Given the description of an element on the screen output the (x, y) to click on. 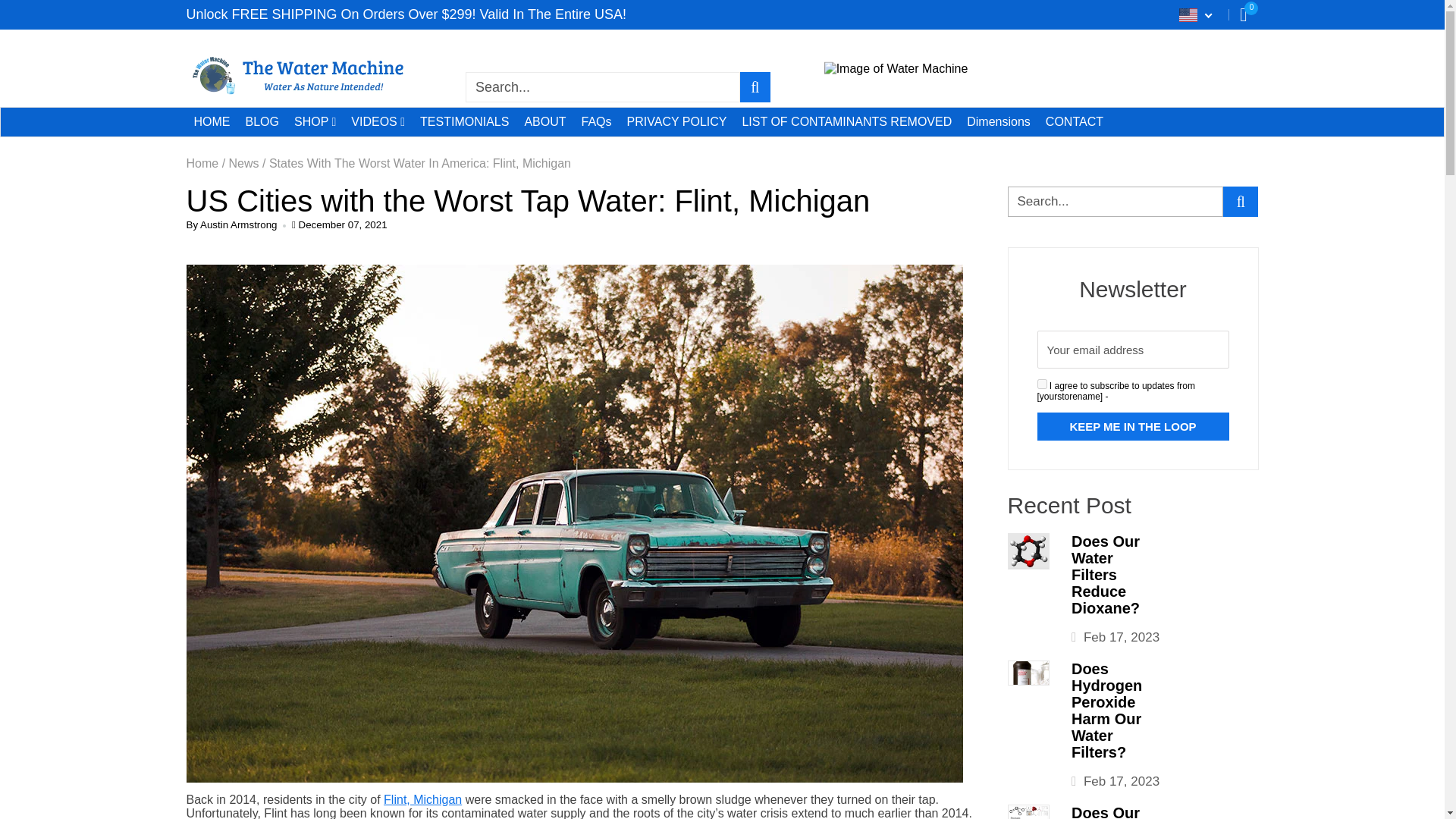
SHOP (315, 121)
0 (1242, 14)
KEEP ME IN THE LOOP (1132, 426)
on (1041, 384)
Back to the home page (202, 163)
HOME (211, 121)
BLOG (262, 121)
